Given the description of an element on the screen output the (x, y) to click on. 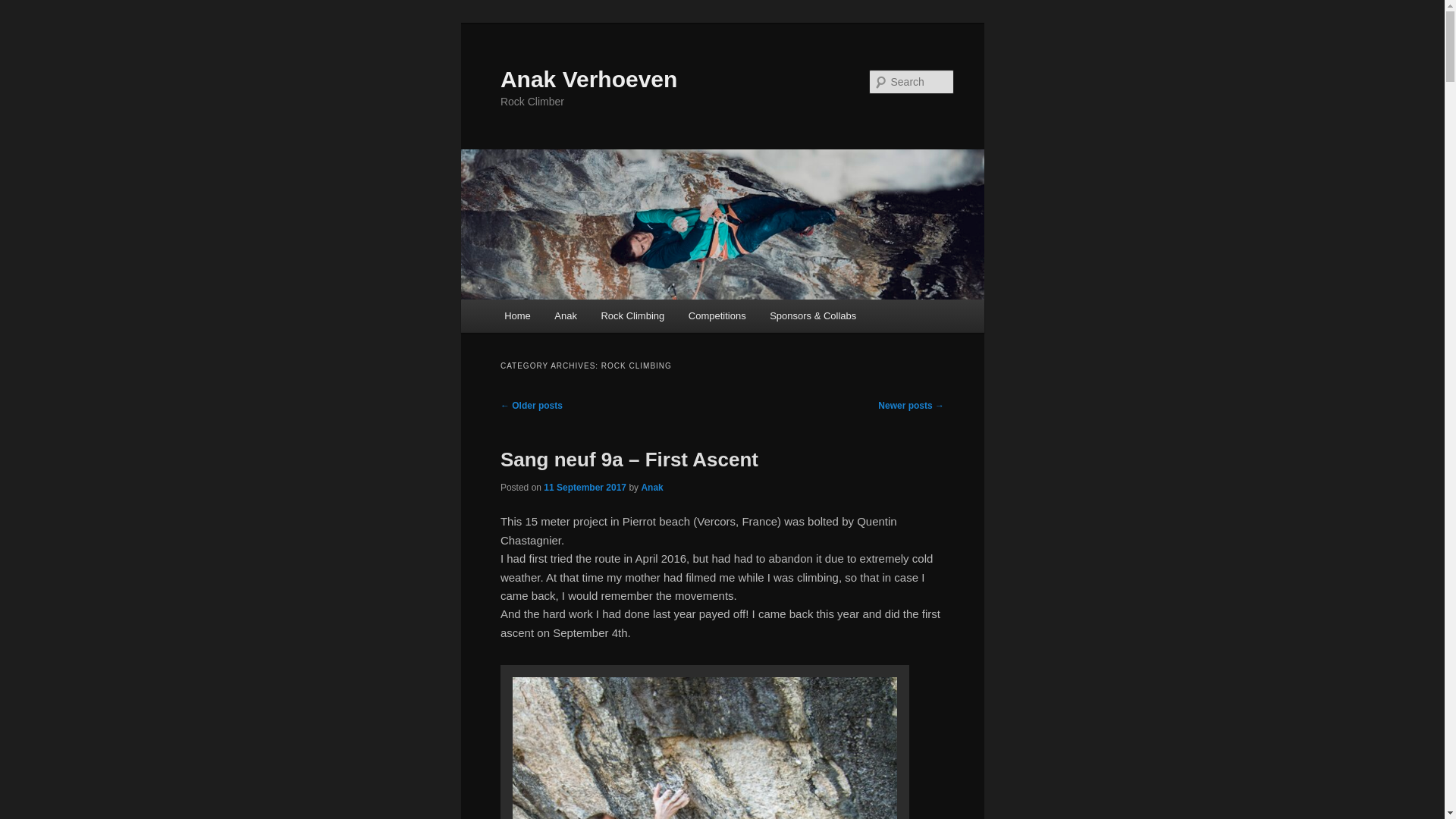
Anak (566, 315)
View all posts by Anak (651, 487)
Rock Climbing (633, 315)
Anak Verhoeven (588, 78)
Home (516, 315)
Search (24, 8)
Competitions (717, 315)
16:19 (584, 487)
11 September 2017 (584, 487)
Anak (651, 487)
